Given the description of an element on the screen output the (x, y) to click on. 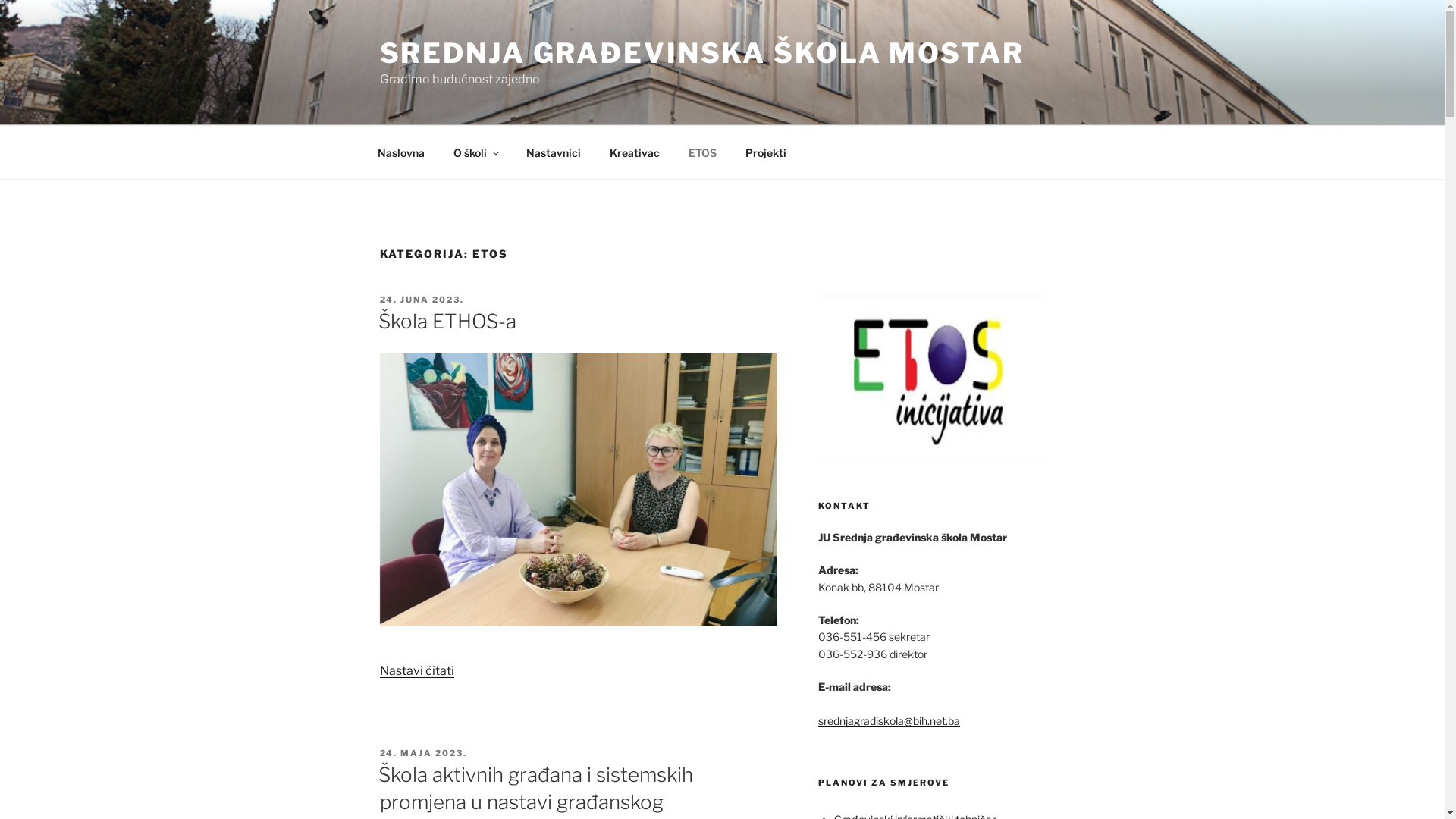
Projekti Element type: text (766, 151)
Naslovna Element type: text (400, 151)
Kreativac Element type: text (634, 151)
24. MAJA 2023. Element type: text (423, 752)
24. JUNA 2023. Element type: text (421, 299)
srednjagradjskola@bih.net.ba Element type: text (889, 728)
ETOS Element type: text (701, 151)
Nastavnici Element type: text (552, 151)
